Given the description of an element on the screen output the (x, y) to click on. 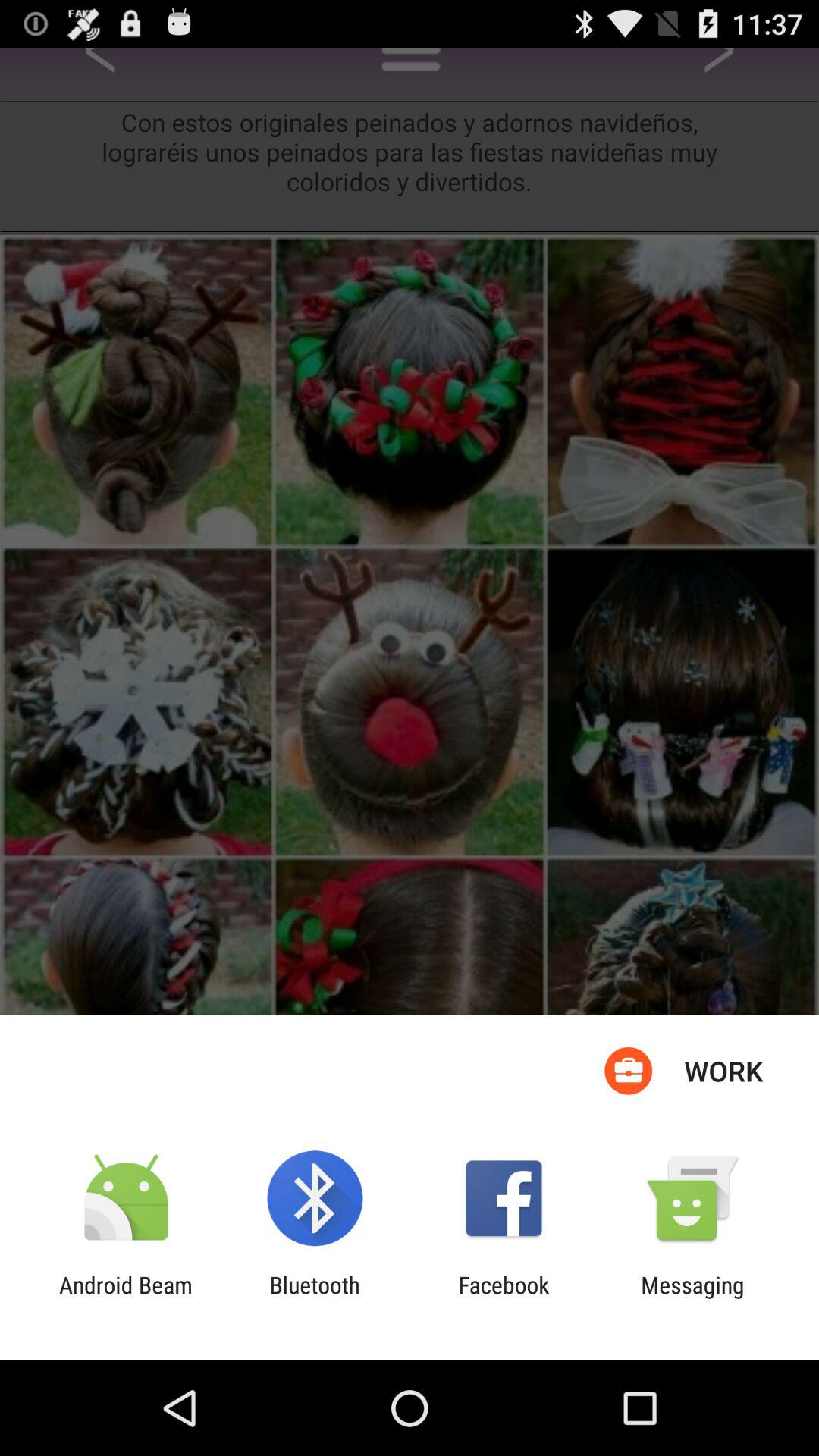
choose the app next to the bluetooth icon (125, 1298)
